Given the description of an element on the screen output the (x, y) to click on. 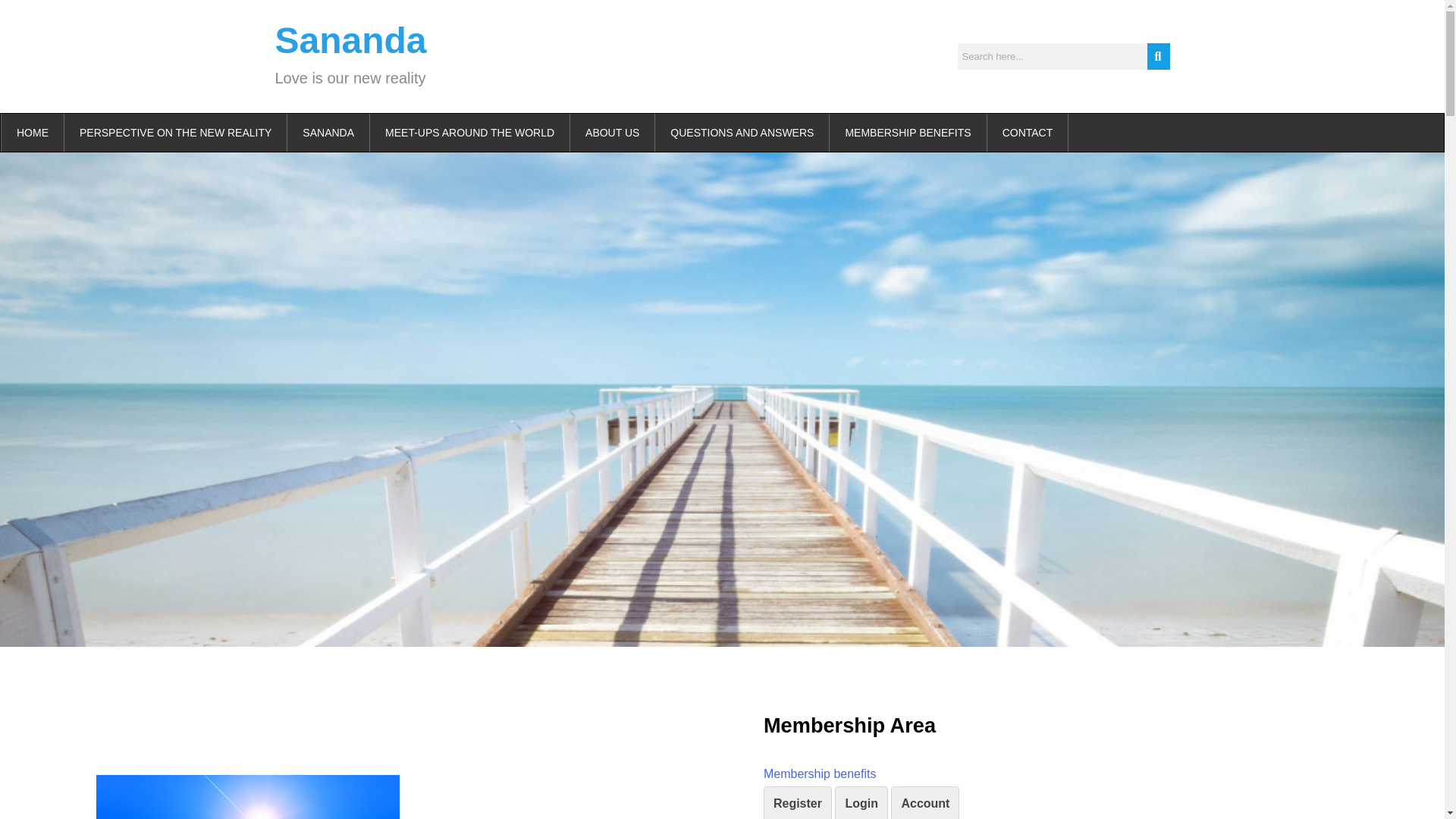
QUESTIONS AND ANSWERS (742, 132)
CONTACT (1027, 132)
PERSPECTIVE ON THE NEW REALITY (175, 132)
MEMBERSHIP BENEFITS (908, 132)
Search (1051, 56)
ABOUT US (612, 132)
HOME (32, 132)
SANANDA (327, 132)
Sananda (350, 40)
Membership benefits (819, 773)
Register (796, 802)
MEET-UPS AROUND THE WORLD (469, 132)
